Given the description of an element on the screen output the (x, y) to click on. 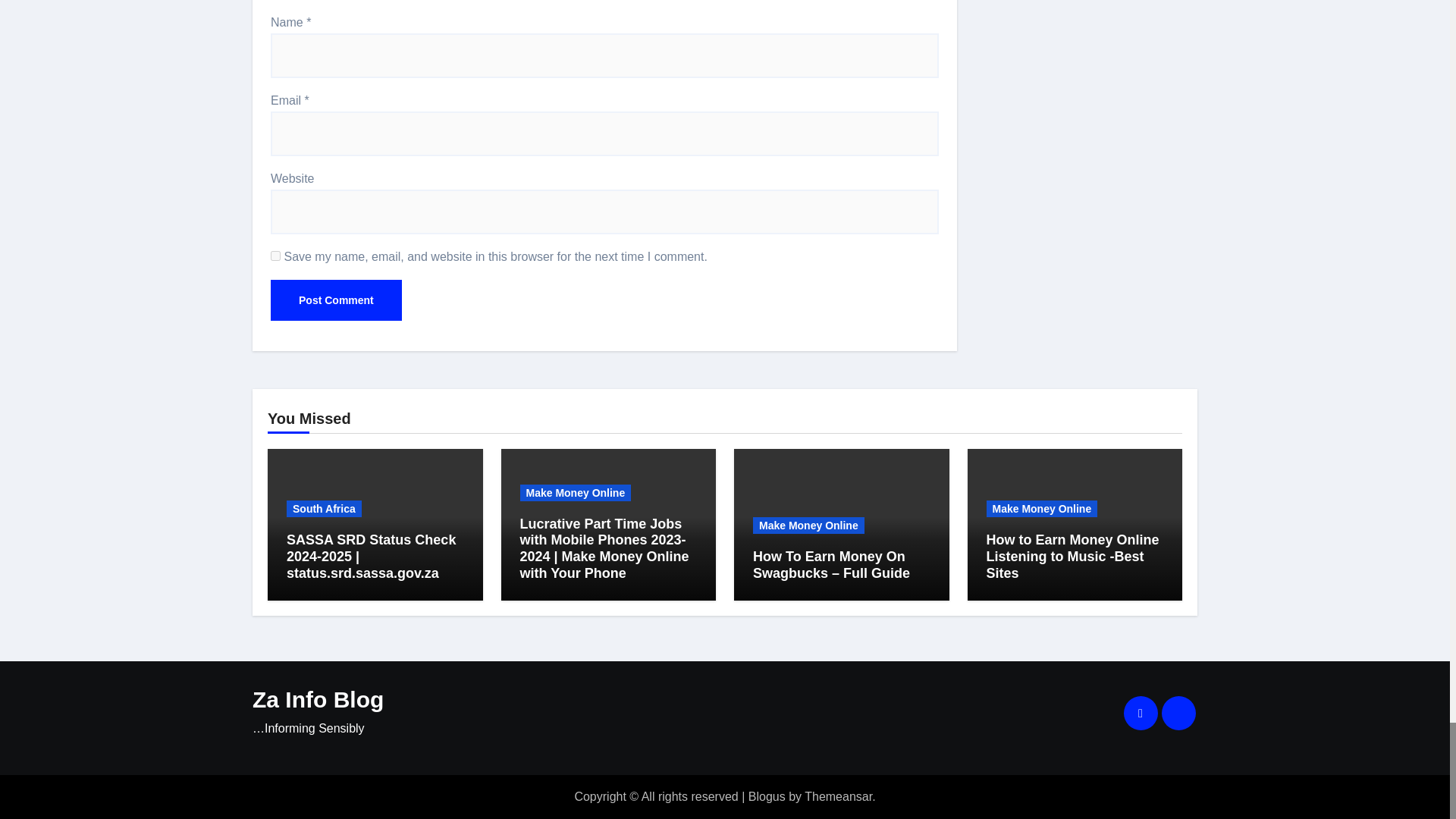
Post Comment (335, 300)
yes (275, 255)
